Given the description of an element on the screen output the (x, y) to click on. 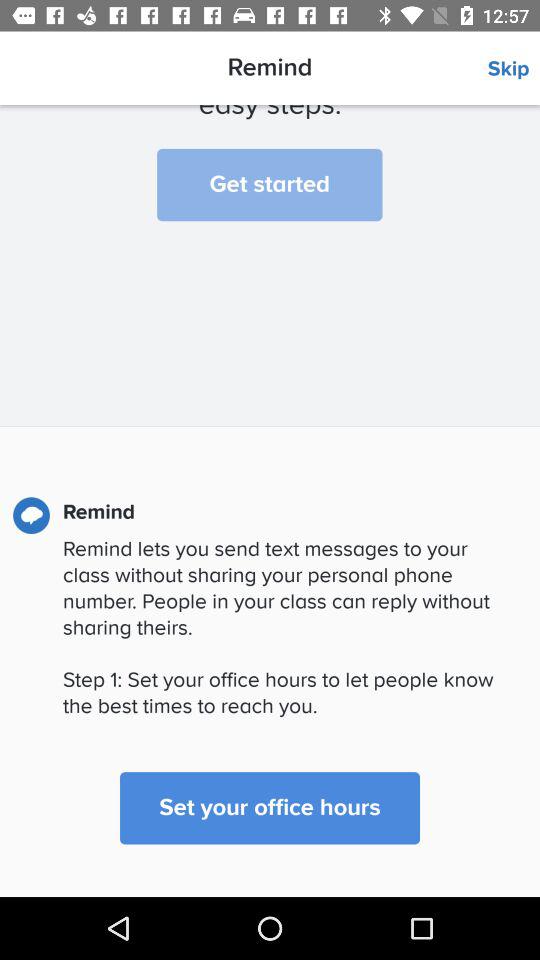
launch the skip at the top right corner (513, 69)
